Given the description of an element on the screen output the (x, y) to click on. 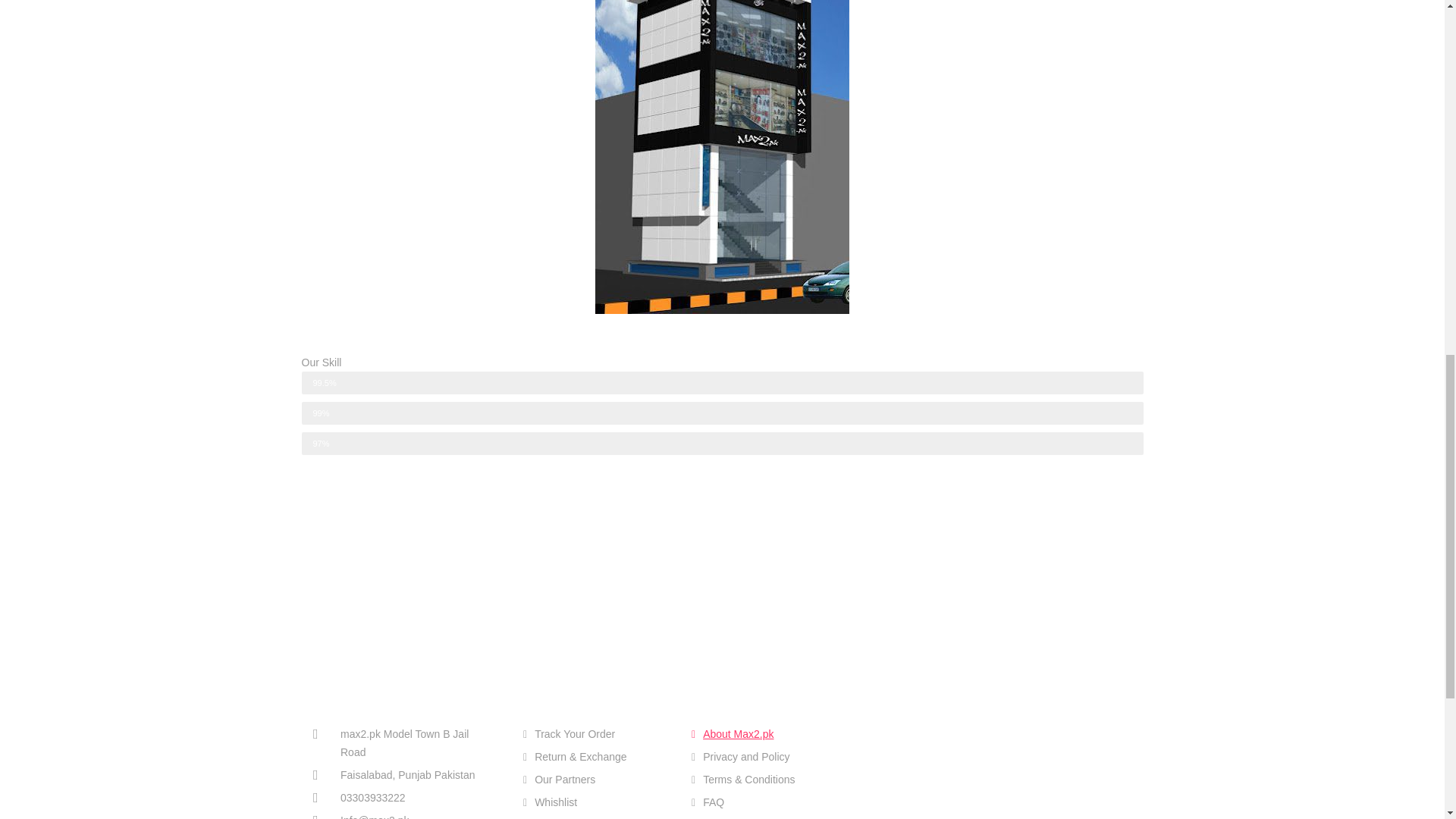
03303933222 (404, 797)
Privacy and Policy (764, 756)
Blog (764, 817)
max2.pk Model Town B Jail Road (404, 742)
Track Your Order (595, 733)
Faisalabad, Punjab Pakistan (404, 774)
Max2.pk  (954, 756)
Our Partners (595, 779)
About Max2.pk (764, 733)
FAQ (764, 802)
